Given the description of an element on the screen output the (x, y) to click on. 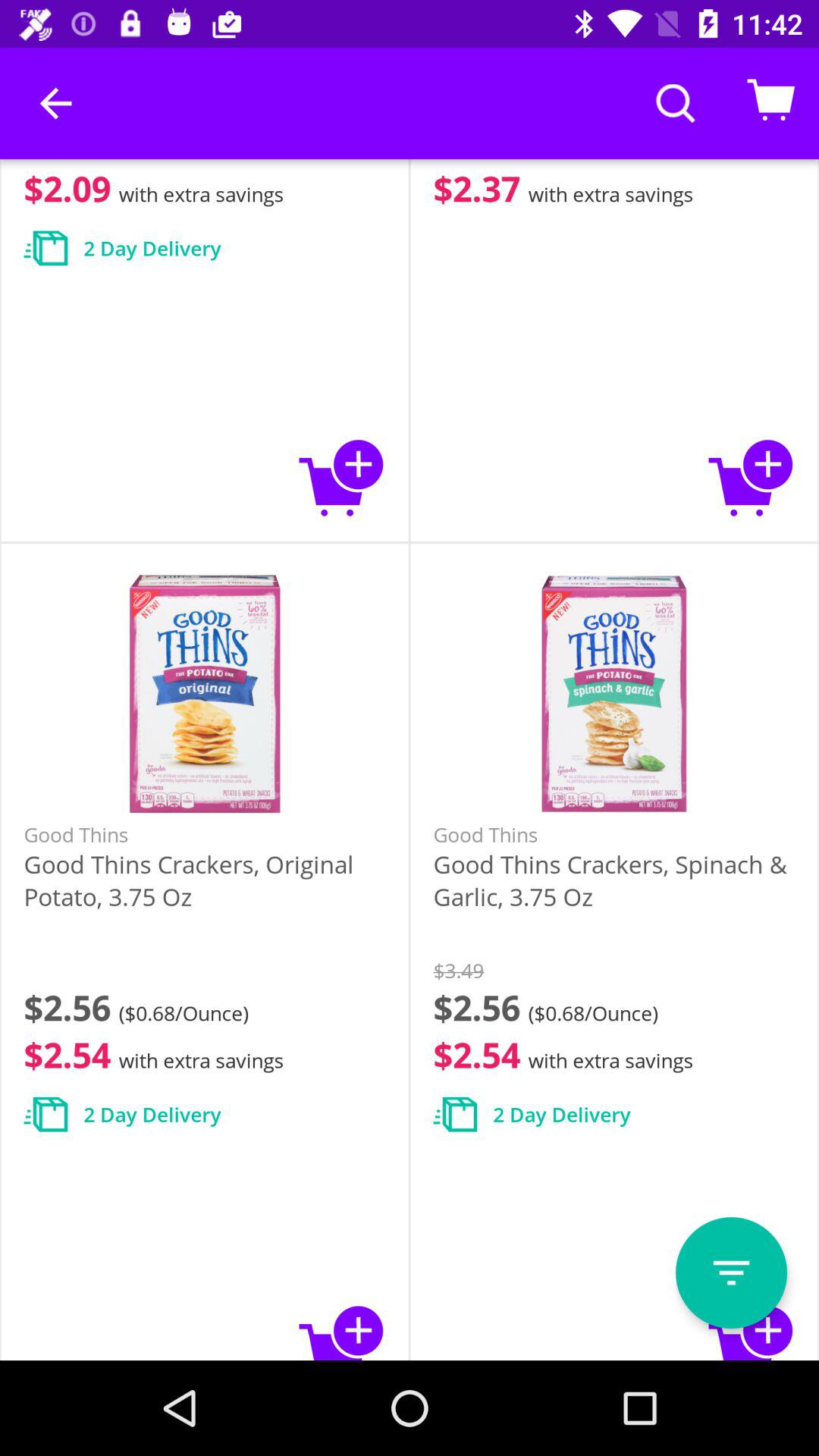
click the o (731, 1272)
